Given the description of an element on the screen output the (x, y) to click on. 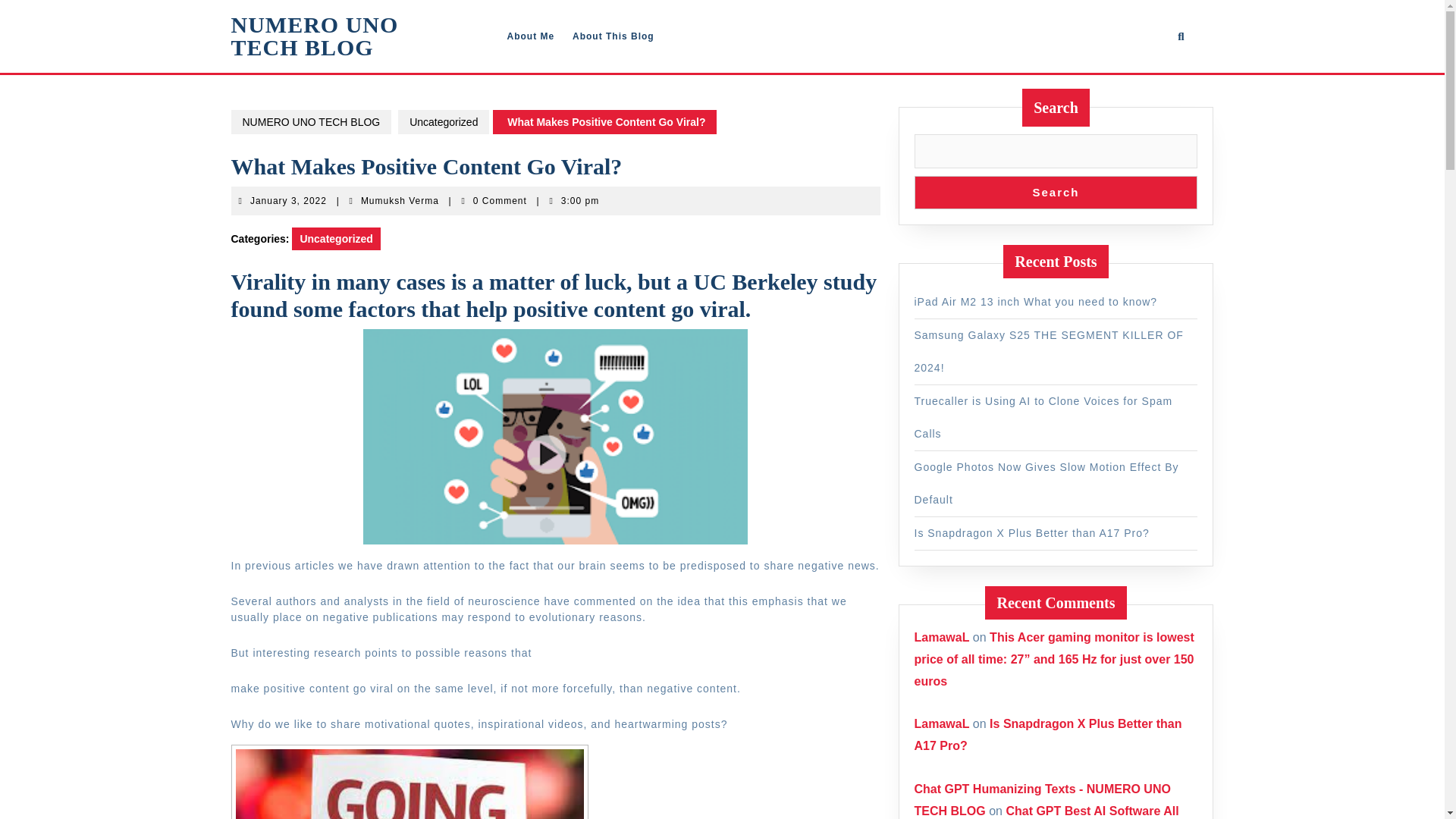
Truecaller is Using AI to Clone Voices for Spam Calls (1043, 416)
LamawaL (941, 636)
Chat GPT Humanizing Texts - NUMERO UNO TECH BLOG (400, 200)
Is Snapdragon X Plus Better than A17 Pro? (1042, 799)
NUMERO UNO TECH BLOG (1032, 532)
About Me (313, 35)
About This Blog (530, 36)
Is Snapdragon X Plus Better than A17 Pro? (613, 36)
LamawaL (1048, 734)
